Given the description of an element on the screen output the (x, y) to click on. 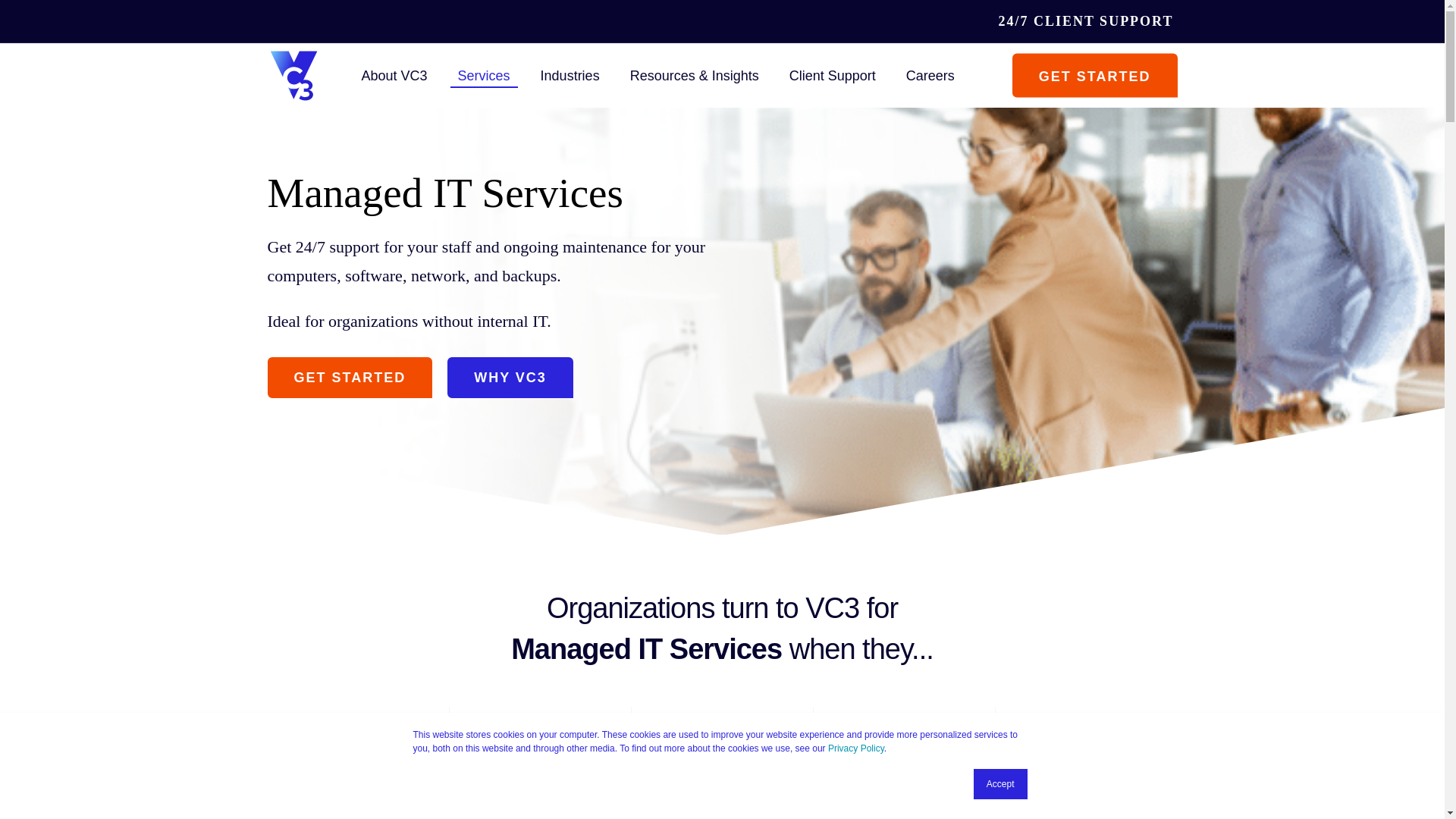
Button Get Started (349, 377)
Privacy Policy (855, 747)
Button Get Started (1094, 75)
Accept (1000, 784)
Button Why VC3 (509, 377)
